Given the description of an element on the screen output the (x, y) to click on. 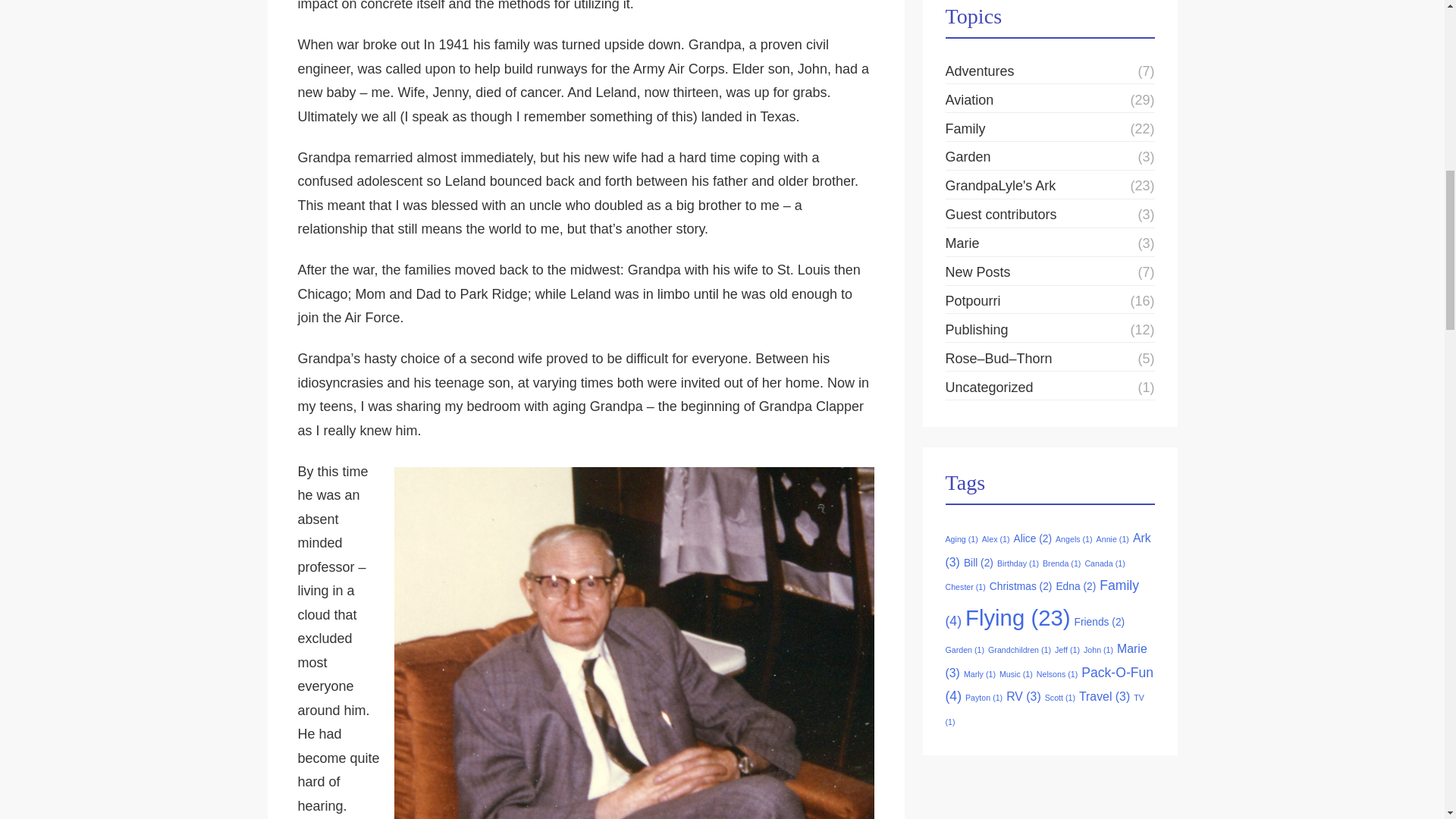
GrandpaLyle's Ark (999, 186)
Adventures (978, 71)
Guest contributors (1000, 215)
Marie (961, 243)
Family (964, 129)
Garden (967, 157)
Aviation (968, 100)
